Given the description of an element on the screen output the (x, y) to click on. 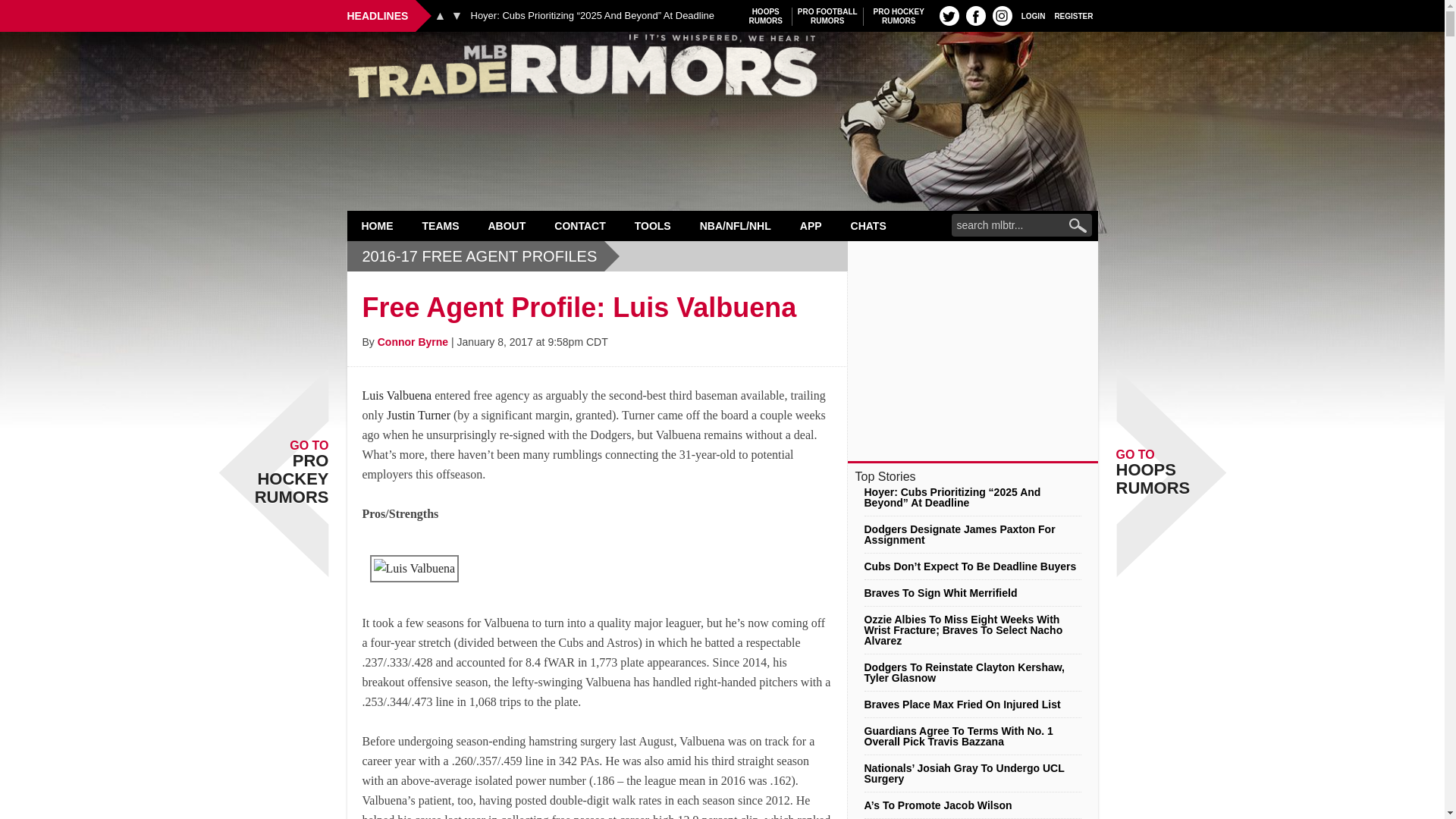
Twitter profile (949, 15)
TEAMS (765, 16)
REGISTER (440, 225)
Search (1073, 15)
Instagram profile (456, 15)
HOME (1001, 15)
LOGIN (377, 225)
Previous (1032, 15)
FB profile (439, 15)
MLB Trade Rumors (898, 16)
